Given the description of an element on the screen output the (x, y) to click on. 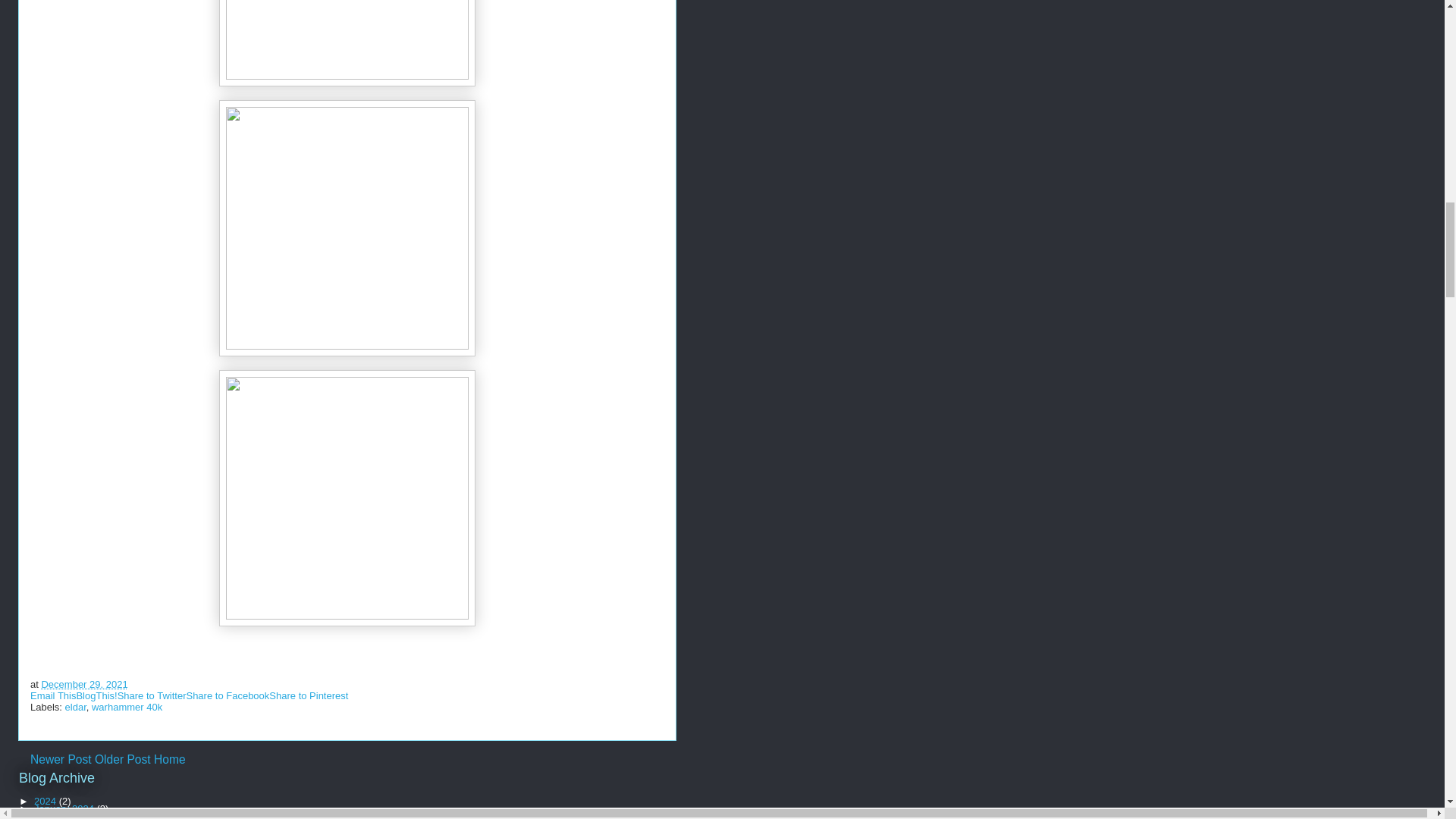
Newer Post (60, 758)
Older Post (122, 758)
Share to Pinterest (308, 695)
January 2024 (64, 808)
December 29, 2021 (84, 684)
Email This (52, 695)
Share to Pinterest (308, 695)
Share to Twitter (151, 695)
eldar (75, 706)
permanent link (84, 684)
BlogThis! (95, 695)
Share to Facebook (227, 695)
2024 (46, 800)
Home (170, 758)
Share to Twitter (151, 695)
